Given the description of an element on the screen output the (x, y) to click on. 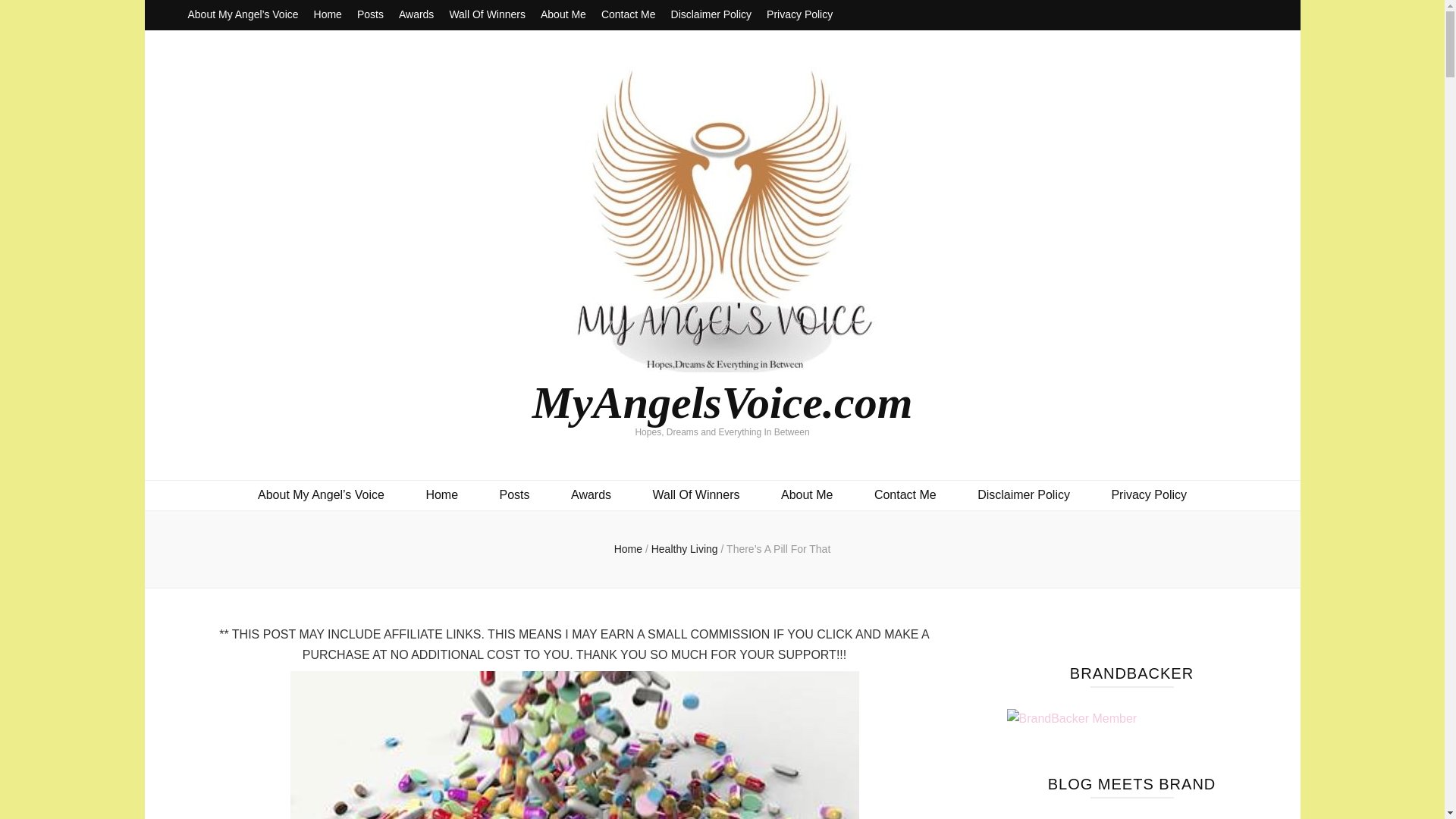
About Me (806, 495)
Disclaimer Policy (1023, 495)
Wall Of Winners (486, 15)
Home (628, 548)
Wall Of Winners (695, 495)
Healthy Living (685, 548)
BrandBacker Member (1072, 719)
About Me (563, 15)
Contact Me (628, 15)
Awards (415, 15)
Privacy Policy (799, 15)
Home (328, 15)
Awards (590, 495)
Posts (514, 495)
Home (441, 495)
